Given the description of an element on the screen output the (x, y) to click on. 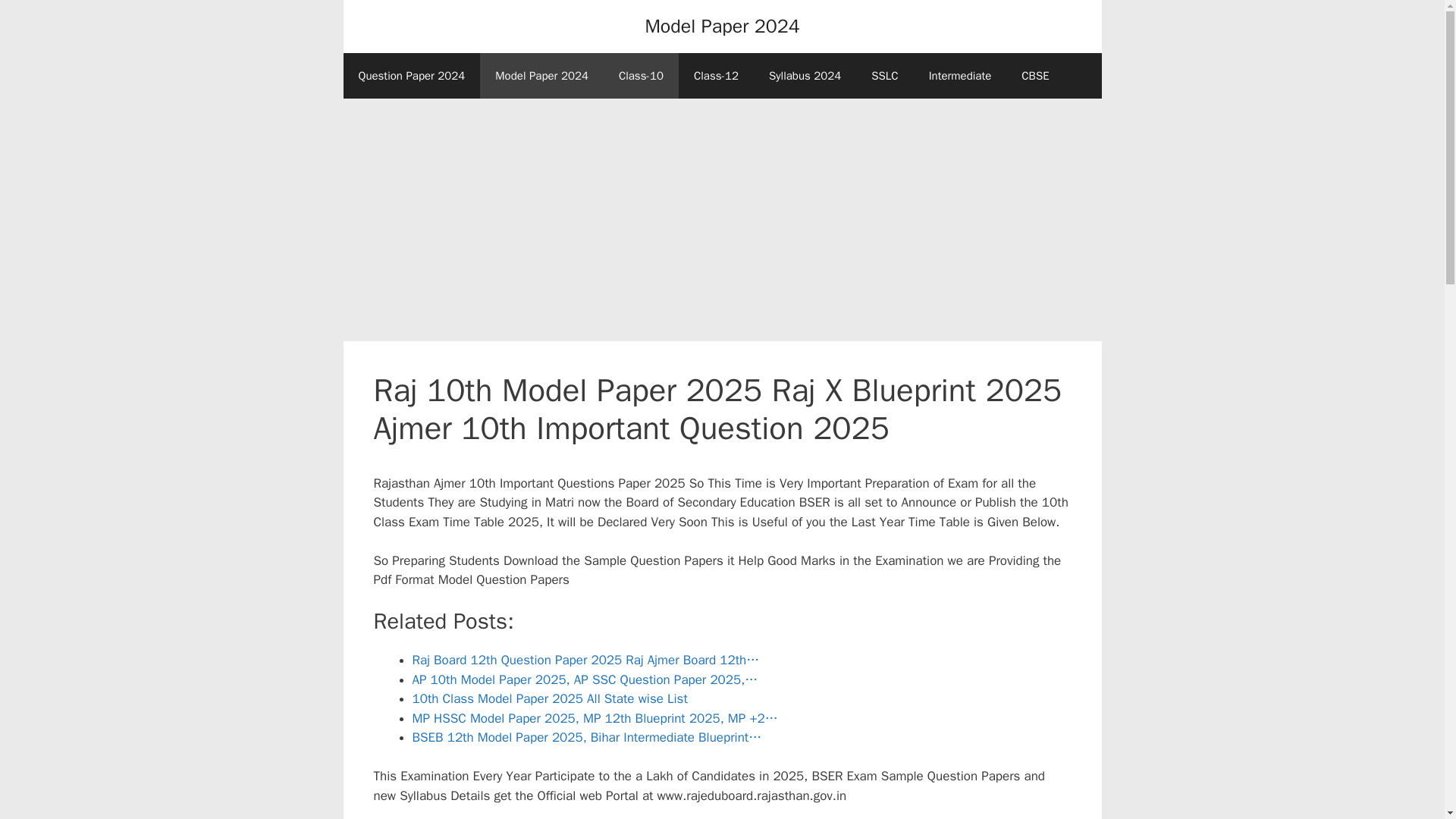
SSLC (884, 75)
Class-10 (641, 75)
Model Paper 2024 (542, 75)
Intermediate (960, 75)
10th Class Model Paper 2025 All State wise List (549, 698)
CBSE (1035, 75)
Model Paper 2024 (722, 25)
Question Paper 2024 (411, 75)
Syllabus 2024 (805, 75)
